Given the description of an element on the screen output the (x, y) to click on. 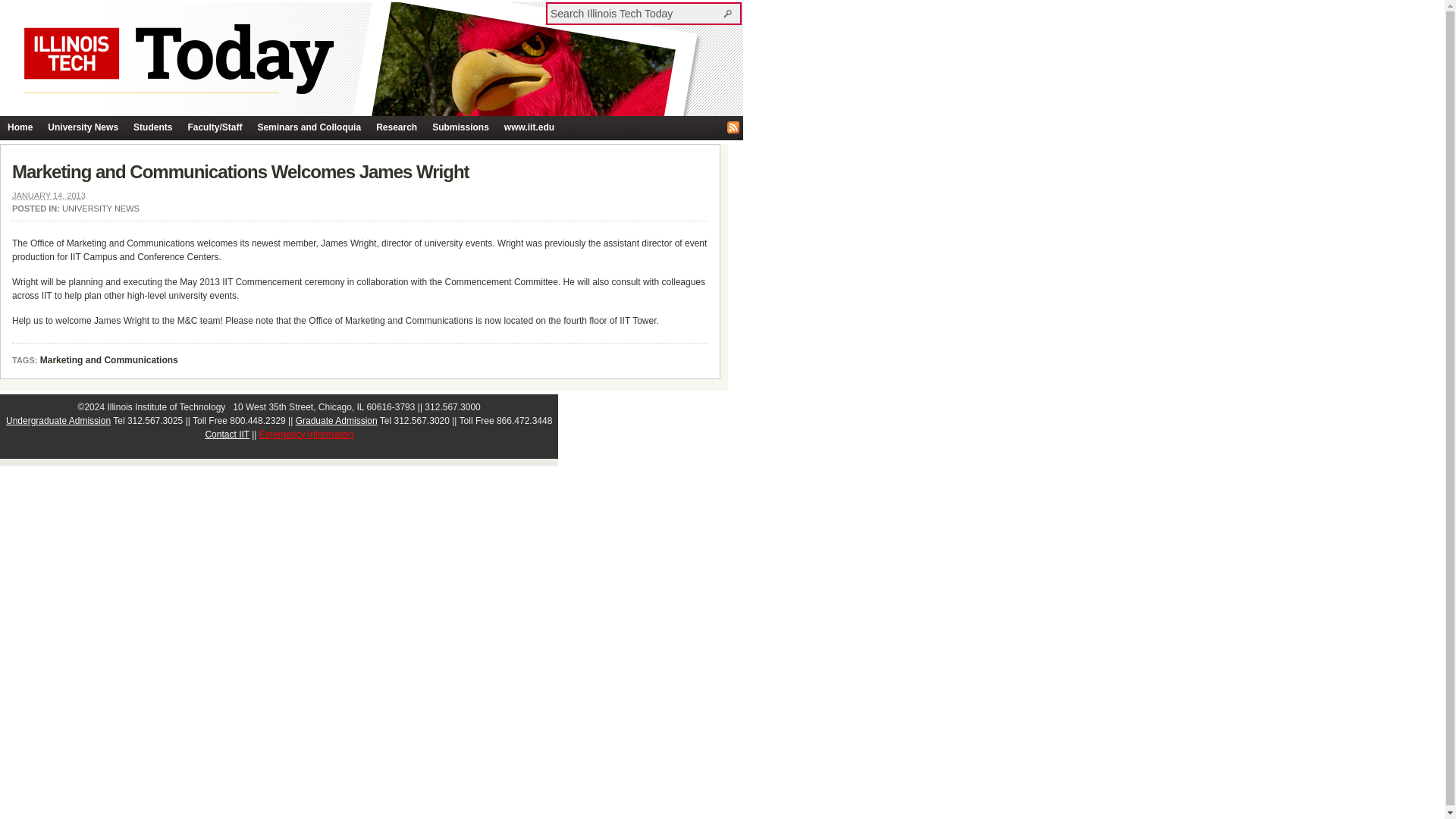
UNIVERSITY NEWS (100, 207)
Illinois Tech Today RSS Feed (732, 127)
RSS Feed (732, 127)
Seminars and Colloquia (308, 127)
Research (396, 127)
Marketing and Communications (108, 360)
University News (82, 127)
Contact IIT (226, 434)
Search Illinois Tech Today (636, 13)
Contact IIT (226, 434)
